Given the description of an element on the screen output the (x, y) to click on. 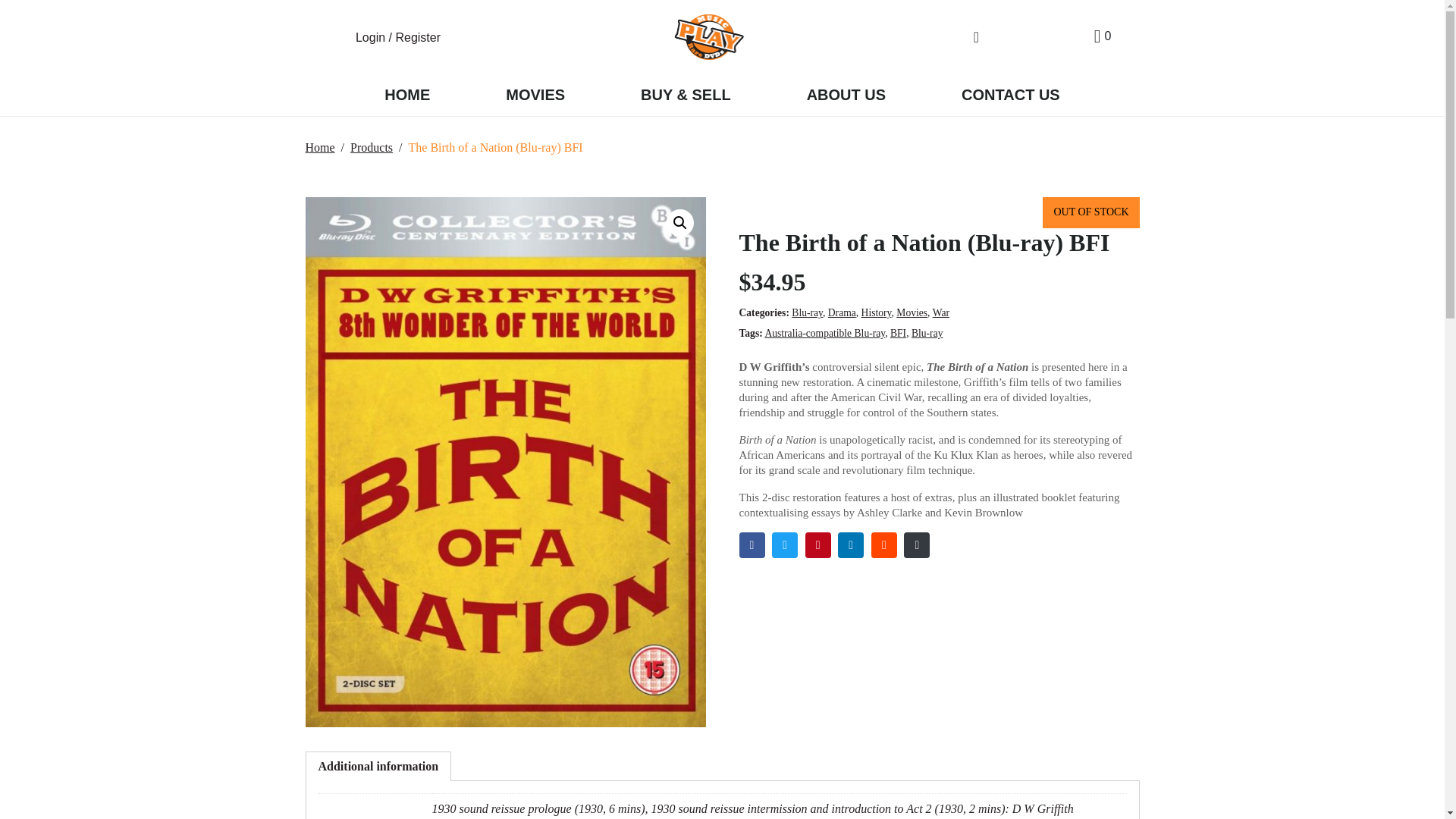
Additional information (378, 766)
ABOUT US (845, 95)
0 (1102, 36)
Movies (911, 312)
Drama (842, 312)
Home (319, 146)
Blu-ray (807, 312)
CONTACT US (1009, 95)
War (941, 312)
History (876, 312)
